Given the description of an element on the screen output the (x, y) to click on. 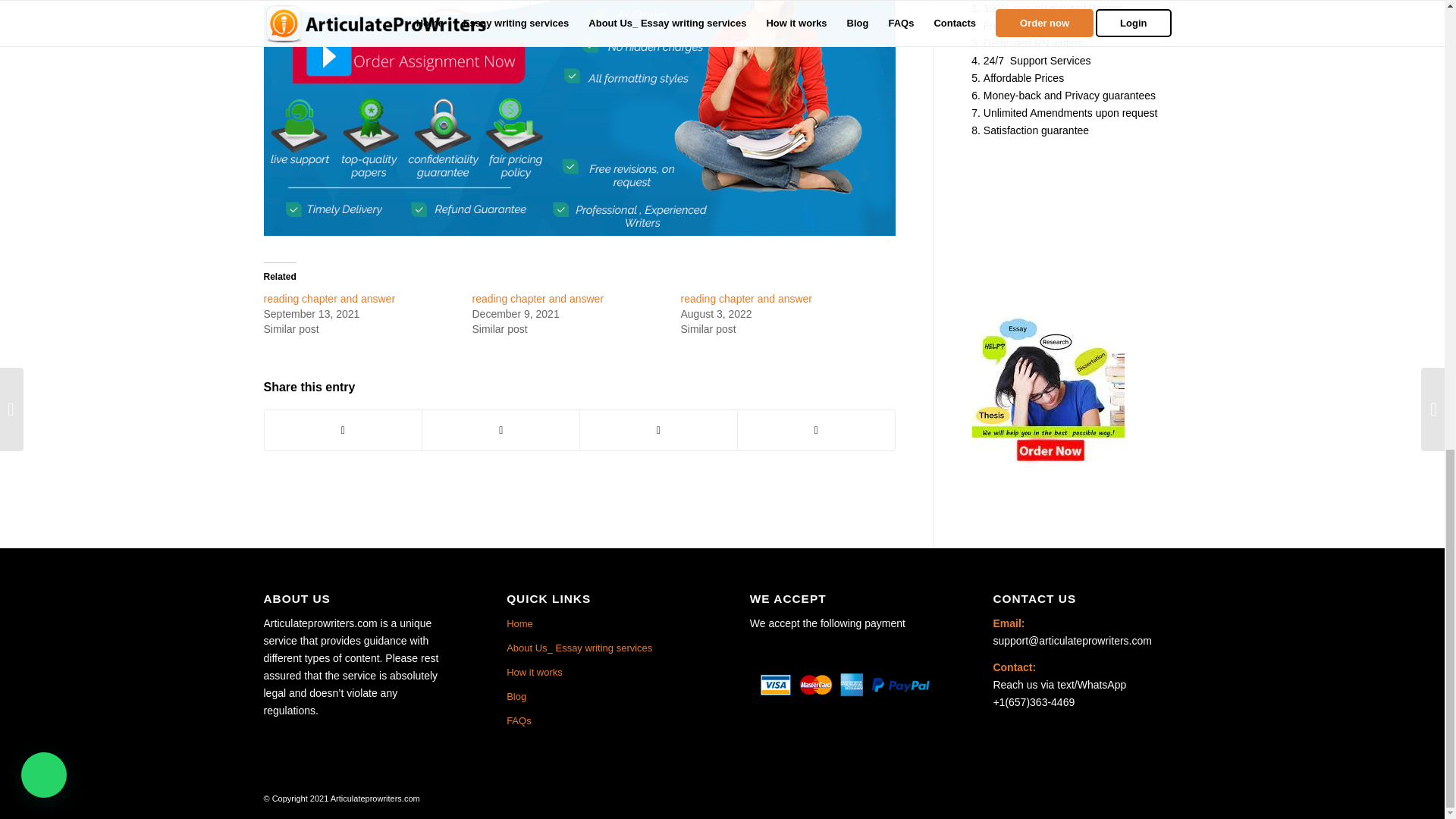
reading chapter and answer (745, 298)
reading chapter and answer (537, 298)
Home (600, 623)
How it works (600, 672)
FAQs (600, 721)
reading chapter and answer (745, 298)
Blog (600, 696)
reading chapter and answer (329, 298)
reading chapter and answer (329, 298)
reading chapter and answer (537, 298)
